Given the description of an element on the screen output the (x, y) to click on. 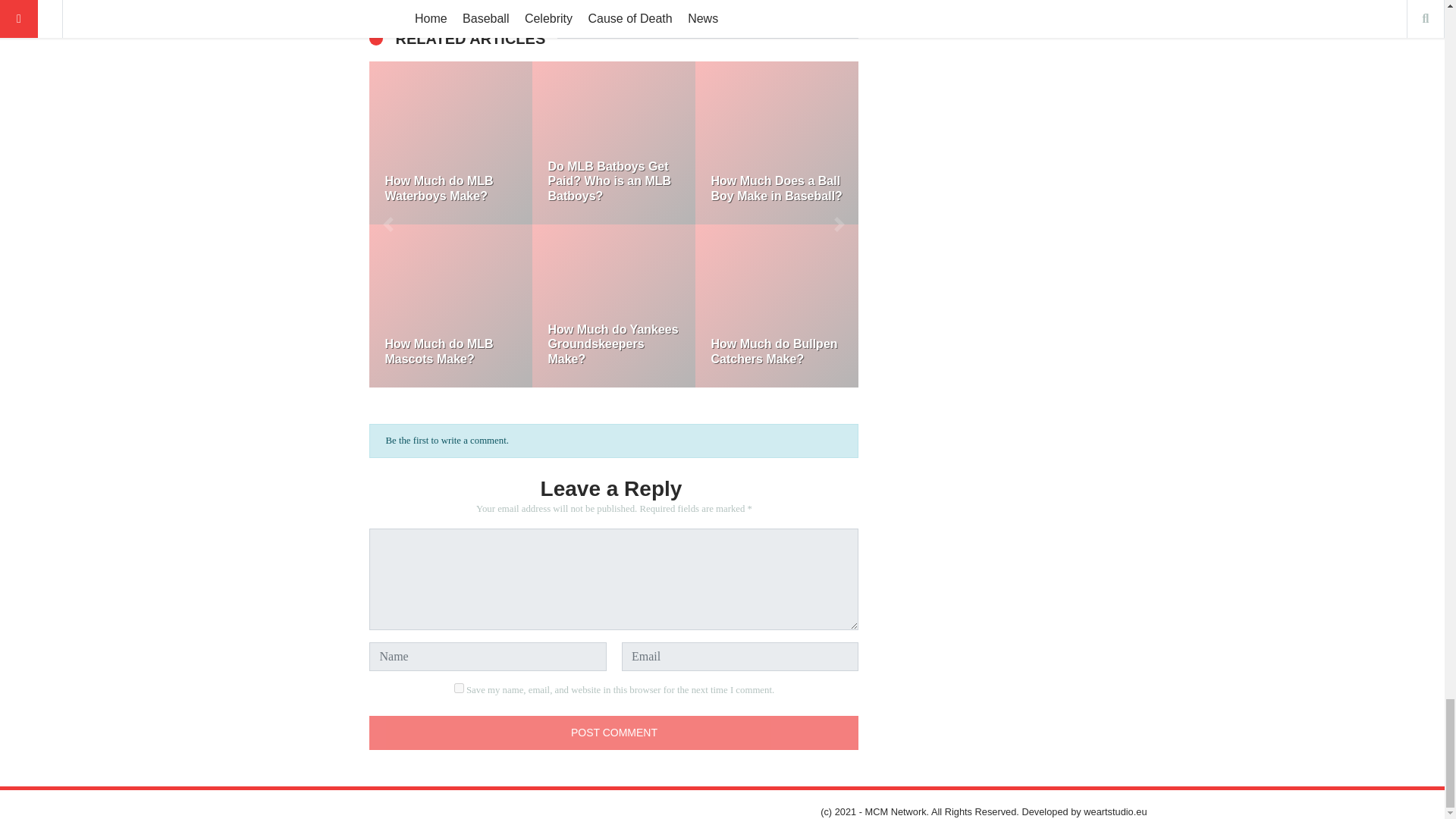
Post Comment (614, 732)
How Much Does a Ball Boy Make in Baseball? (777, 142)
How Much do Bullpen Catchers Make? (777, 305)
Do MLB Batboys Get Paid? Who is an MLB Batboys? (613, 142)
How Much do MLB Mascots Make? (450, 305)
Post Comment (614, 732)
yes (459, 687)
How Much do MLB Waterboys Make? (450, 142)
How Much do Yankees Groundskeepers Make? (613, 305)
